Given the description of an element on the screen output the (x, y) to click on. 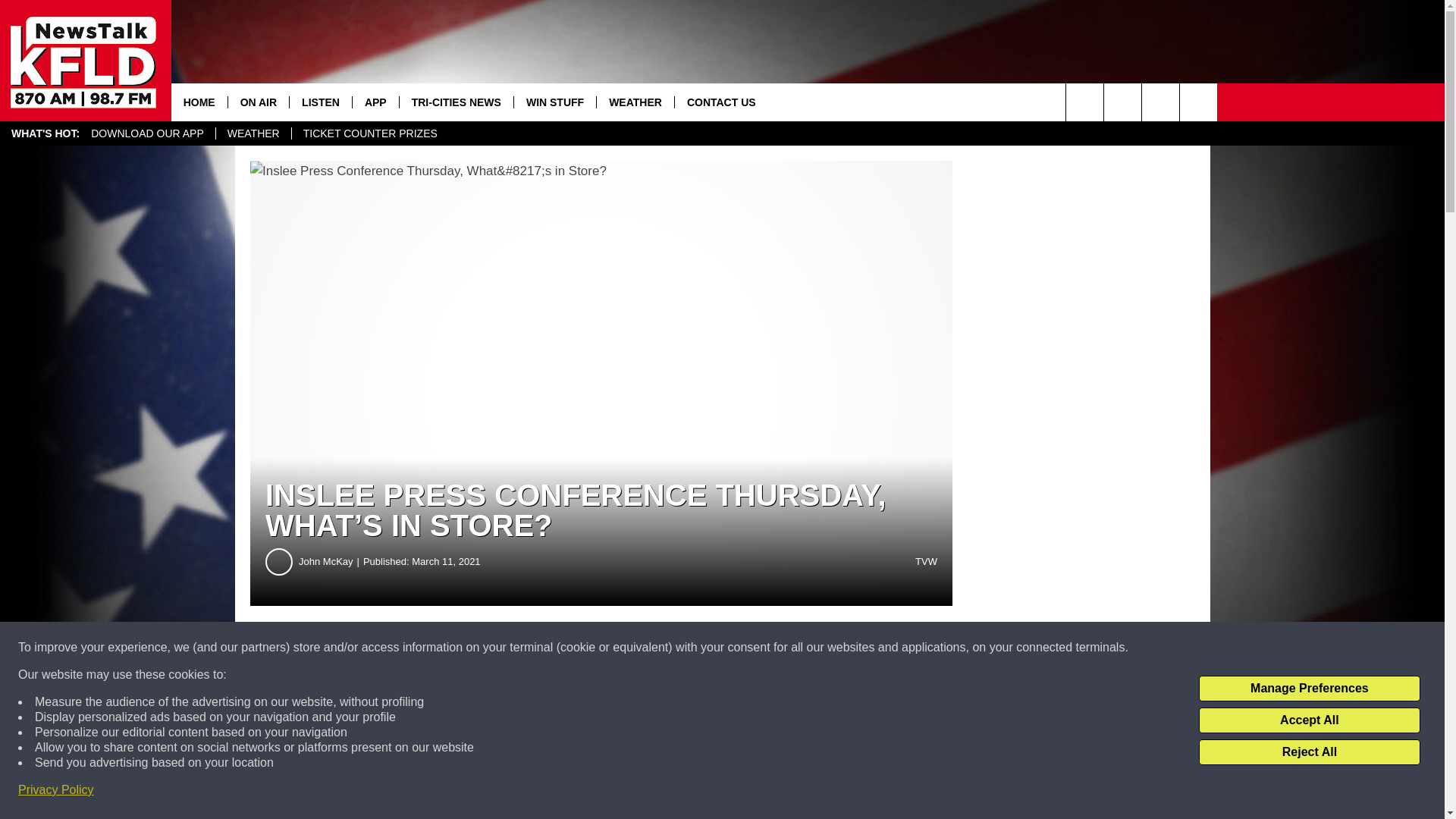
DOWNLOAD OUR APP (147, 133)
TICKET COUNTER PRIZES (369, 133)
APP (375, 102)
WIN STUFF (554, 102)
Share on Facebook (460, 647)
WEATHER (634, 102)
Manage Preferences (1309, 688)
HOME (199, 102)
Reject All (1309, 751)
LISTEN (320, 102)
WEATHER (253, 133)
Privacy Policy (55, 789)
Share on Twitter (741, 647)
ON AIR (257, 102)
TRI-CITIES NEWS (455, 102)
